Given the description of an element on the screen output the (x, y) to click on. 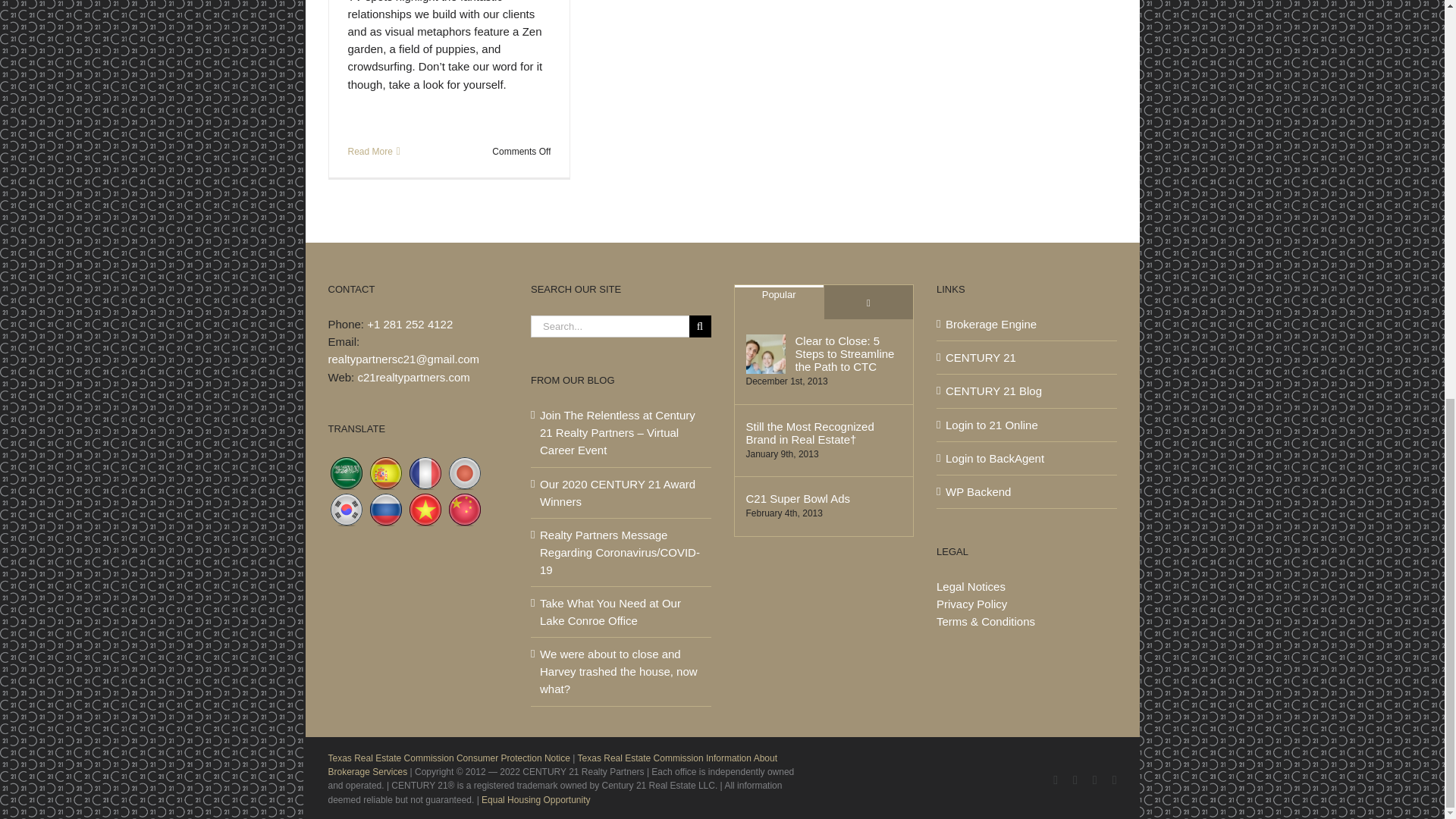
Login to Our BackAgent Site (1026, 457)
Login to 21 Online (1026, 425)
CENTURY 21 Website (1026, 357)
Log into website admin panel (1026, 491)
Legal Notices (971, 585)
